Given the description of an element on the screen output the (x, y) to click on. 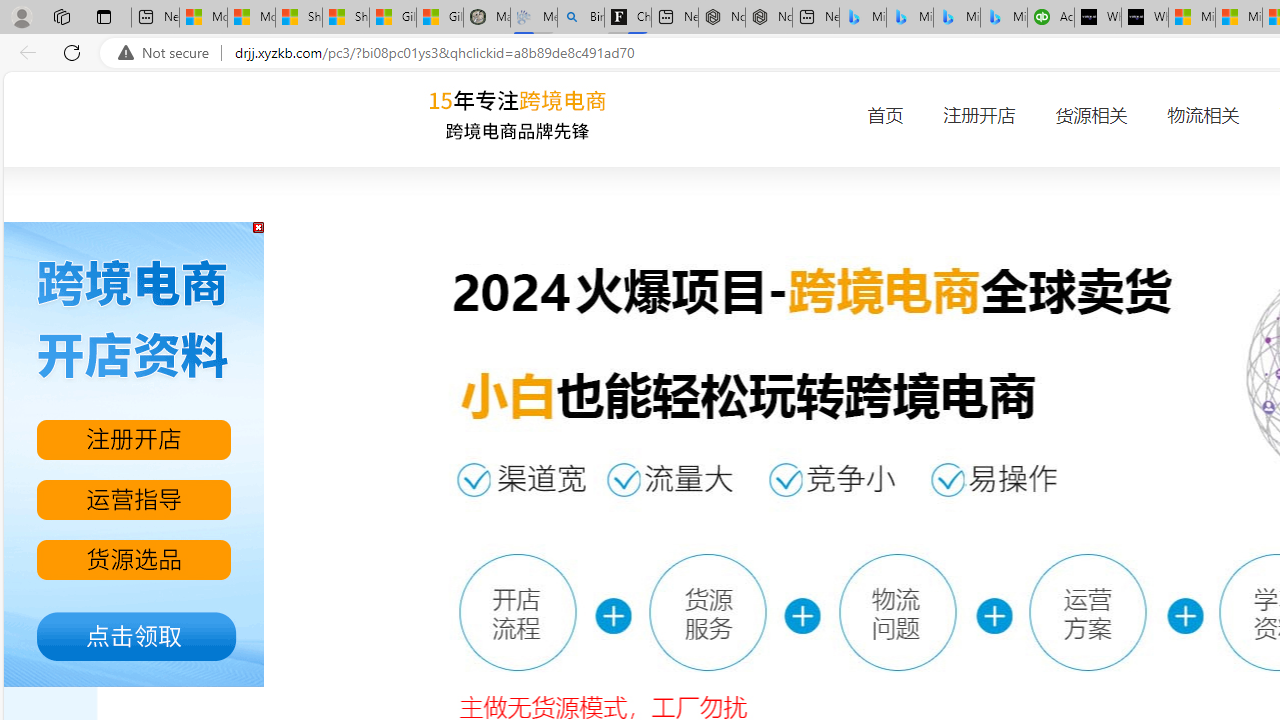
Chloe Sorvino (628, 17)
Not secure (168, 53)
Accounting Software for Accountants, CPAs and Bookkeepers (1050, 17)
